Given the description of an element on the screen output the (x, y) to click on. 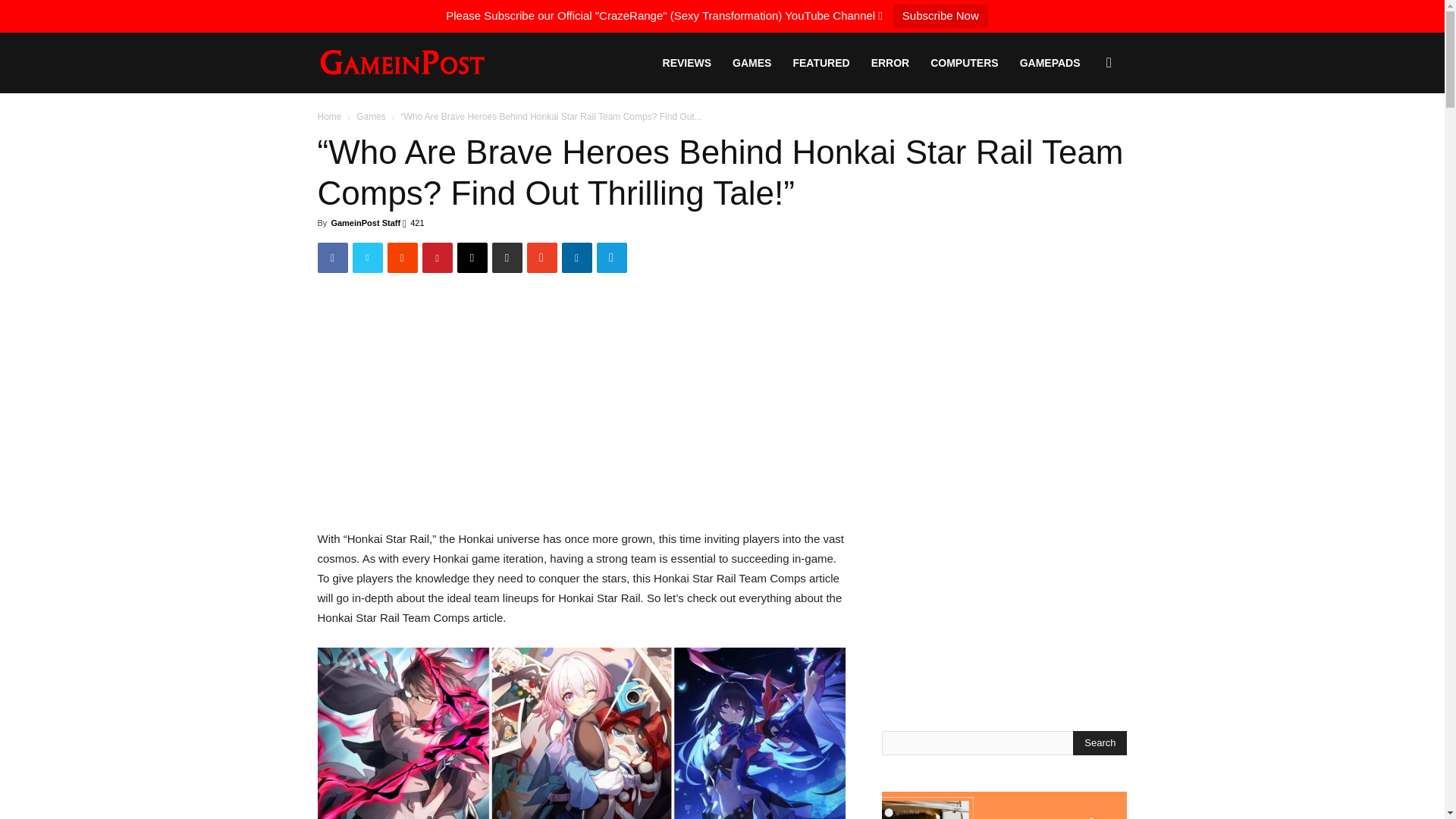
GameinPost (401, 63)
FEATURED (820, 62)
ERROR (890, 62)
Home (328, 116)
View all posts in Games (370, 116)
GAMEPADS (1049, 62)
COMPUTERS (964, 62)
Advertisement (579, 407)
Games (370, 116)
GAMES (751, 62)
GameinPost Staff (365, 222)
REVIEWS (687, 62)
Search (1099, 743)
Search (1085, 135)
Subscribe Now (940, 15)
